Given the description of an element on the screen output the (x, y) to click on. 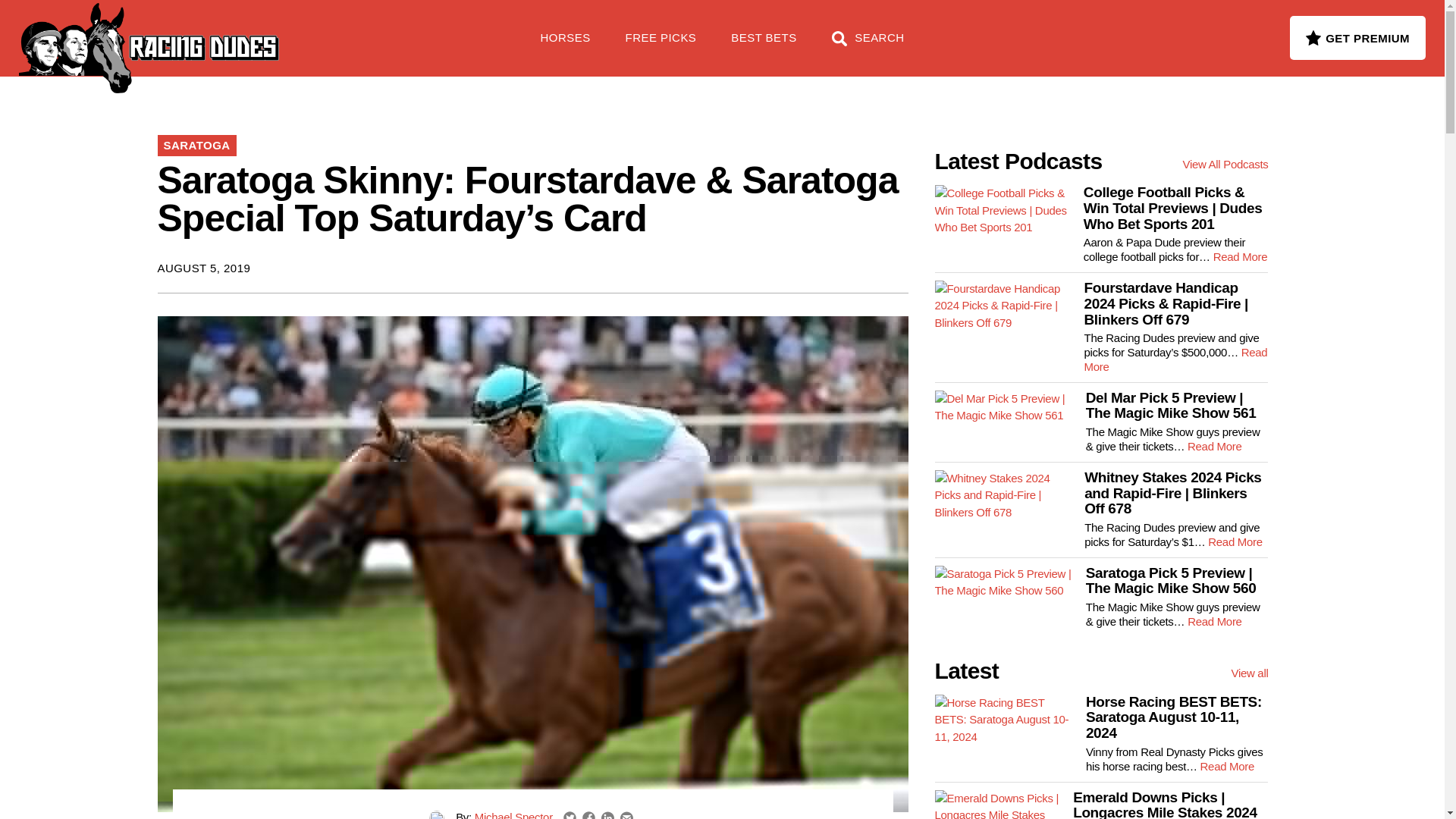
FREE PICKS (245, 29)
FREE PICKS (661, 45)
Posts by Michael Spector (513, 814)
PODCASTS (354, 29)
 SEARCH (867, 45)
HORSES (565, 45)
GET PREMIUM (1357, 37)
BEST BETS (763, 45)
